Given the description of an element on the screen output the (x, y) to click on. 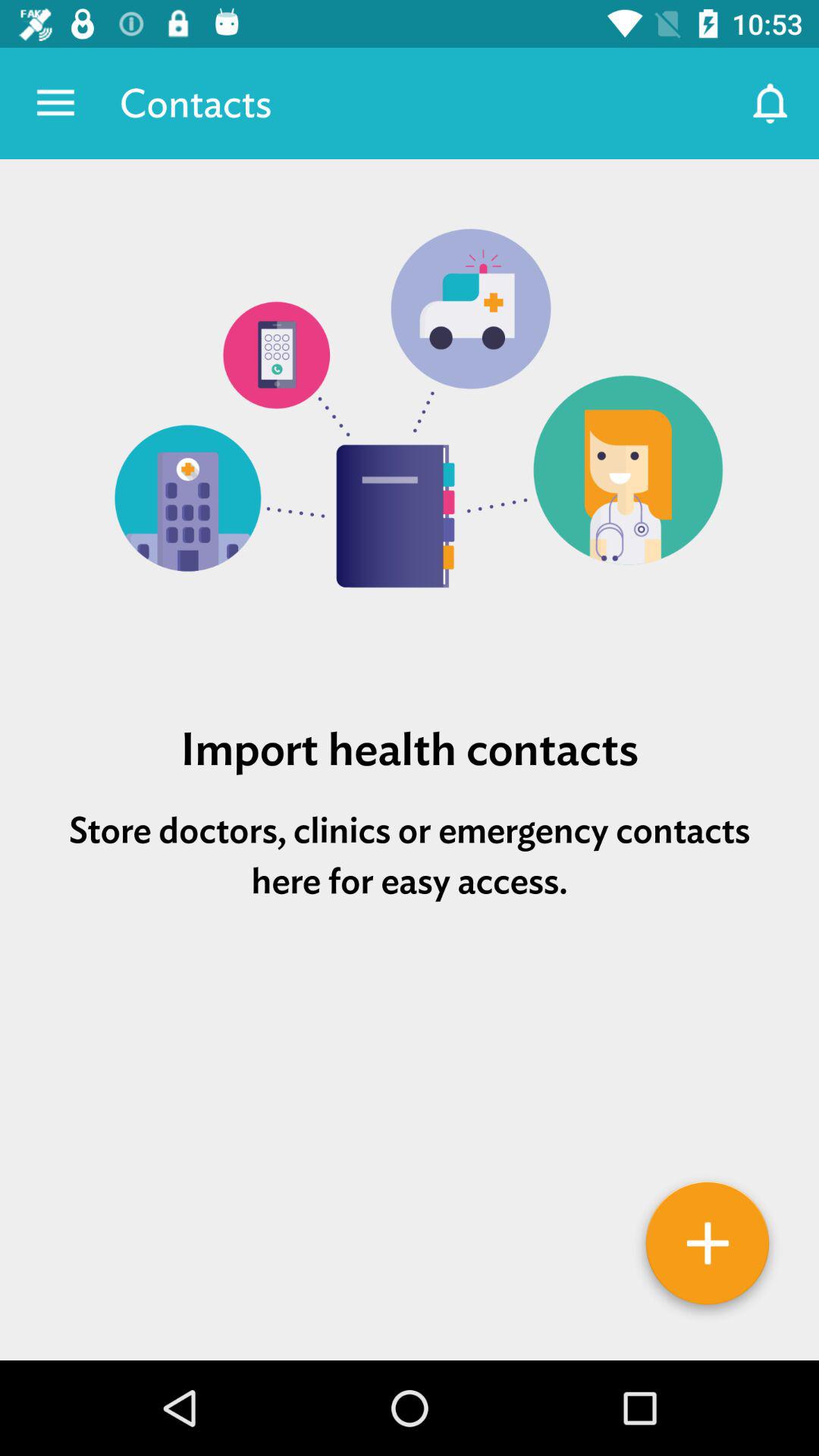
launch the item at the top right corner (771, 103)
